Given the description of an element on the screen output the (x, y) to click on. 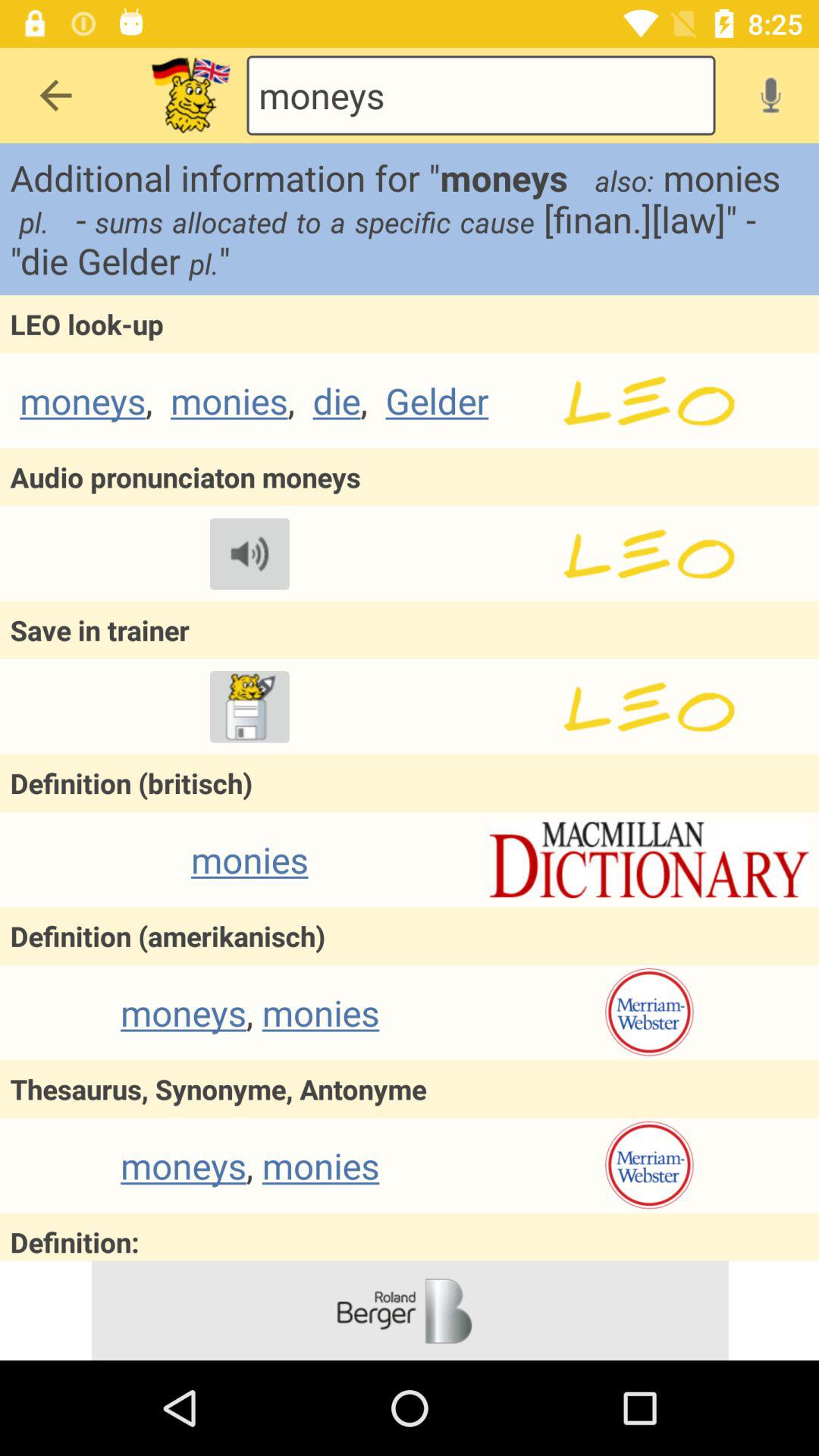
voice search option (770, 94)
